Given the description of an element on the screen output the (x, y) to click on. 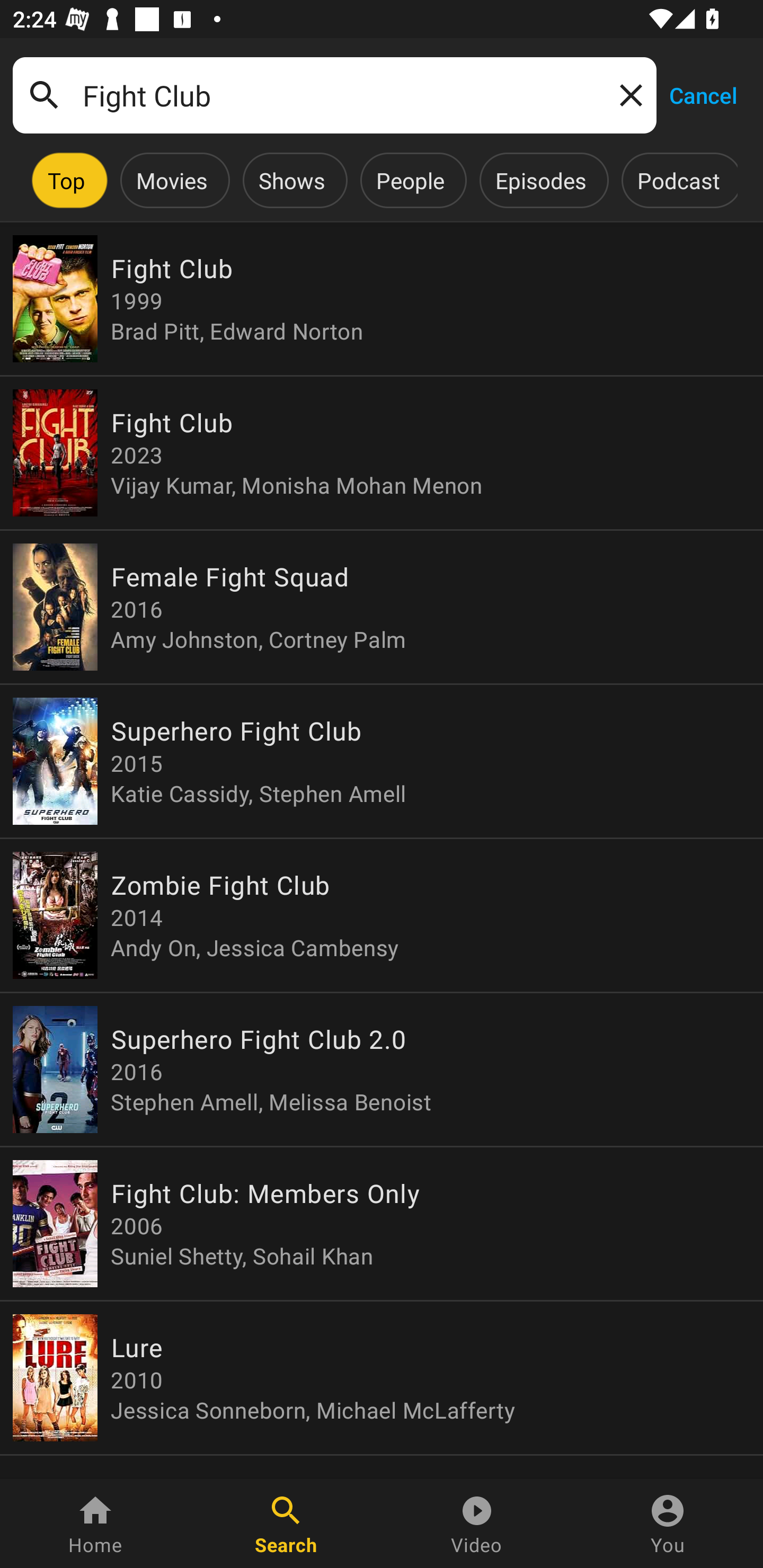
Clear query (627, 94)
Cancel (703, 94)
Fight Club (334, 95)
Top (66, 180)
Movies (171, 180)
Shows (291, 180)
People (410, 180)
Episodes (540, 180)
Podcast (678, 180)
Fight Club 1999 Brad Pitt, Edward Norton (381, 298)
Fight Club 2023 Vijay Kumar, Monisha Mohan Menon (381, 452)
Female Fight Squad 2016 Amy Johnston, Cortney Palm (381, 607)
Zombie Fight Club 2014 Andy On, Jessica Cambensy (381, 914)
Lure 2010 Jessica Sonneborn, Michael McLafferty (381, 1377)
Home (95, 1523)
Video (476, 1523)
You (667, 1523)
